Given the description of an element on the screen output the (x, y) to click on. 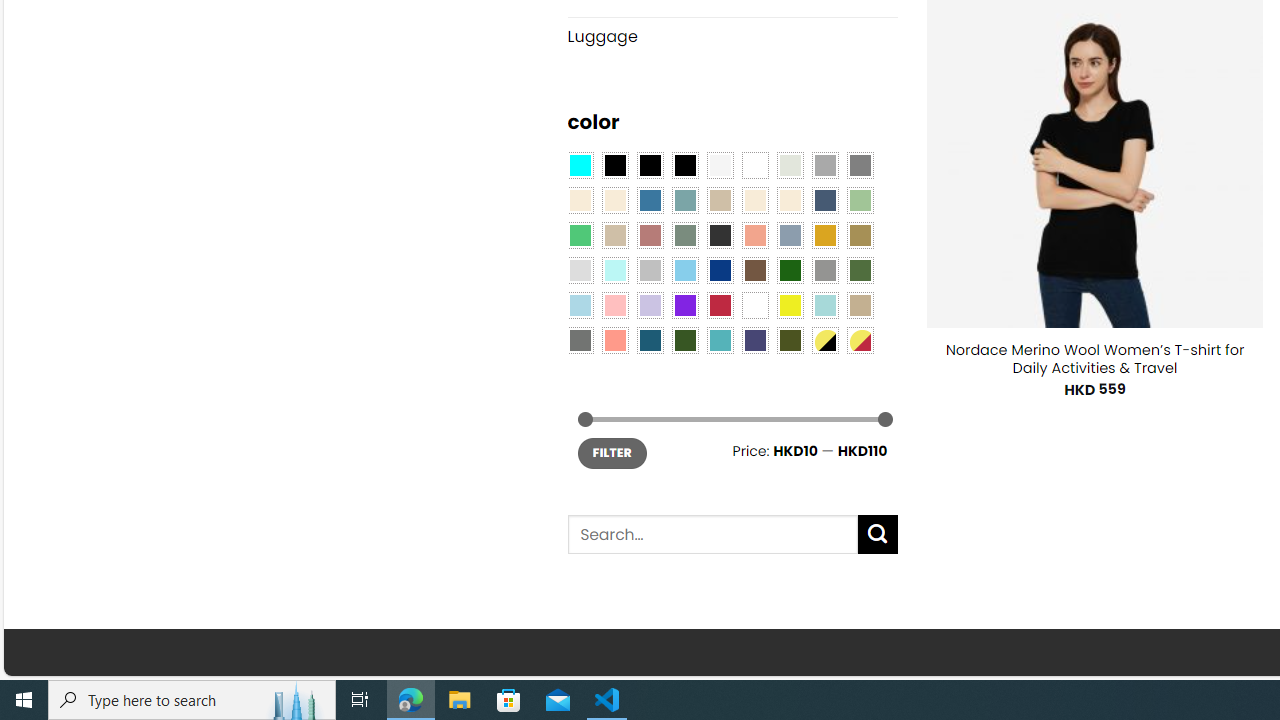
Army Green (789, 339)
Light Blue (579, 305)
Aqua Blue (579, 164)
Rose (650, 234)
Cream (789, 200)
All Gray (859, 164)
Hale Navy (824, 200)
Purple (684, 305)
Dark Green (789, 269)
Capri Blue (650, 339)
Black-Brown (684, 164)
Search for: (712, 533)
Brown (755, 269)
Sky Blue (684, 269)
Black (650, 164)
